Given the description of an element on the screen output the (x, y) to click on. 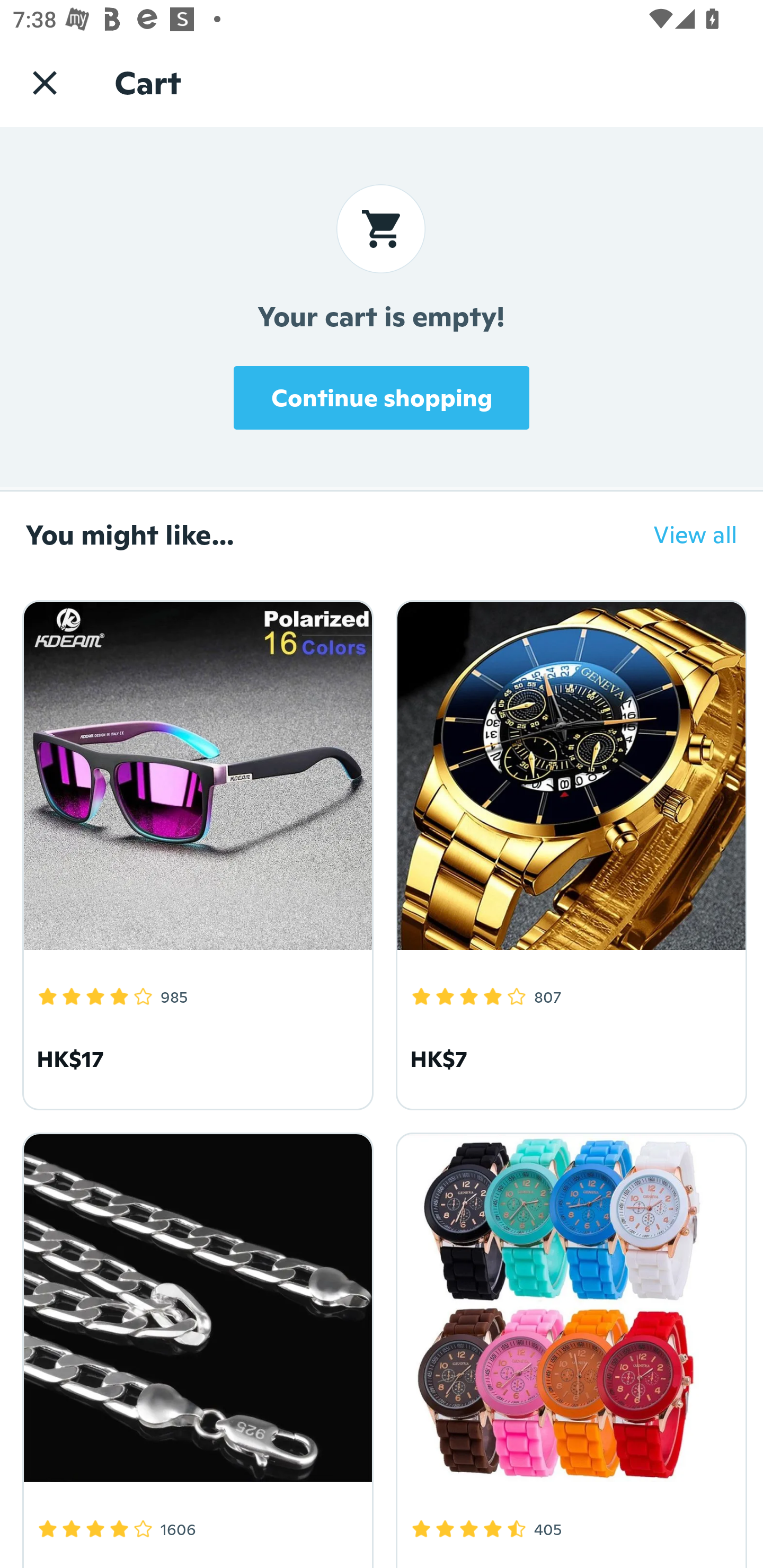
Navigate up (44, 82)
Continue shopping (381, 397)
View all (682, 534)
4.2 Star Rating 985 HK$17 (194, 852)
3.8 Star Rating 807 HK$7 (567, 852)
4.2 Star Rating 1606 (194, 1346)
4.3 Star Rating 405 (567, 1346)
